Given the description of an element on the screen output the (x, y) to click on. 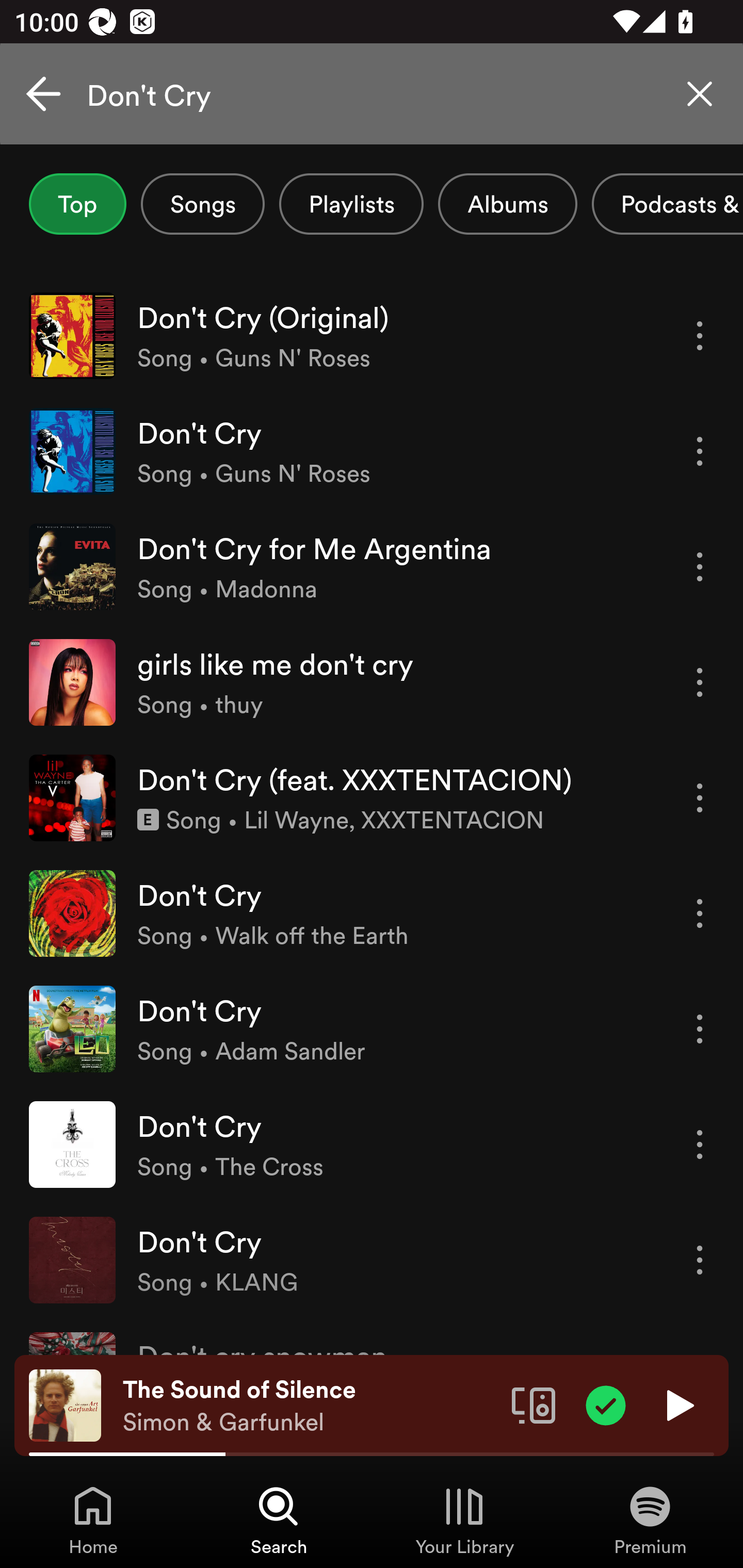
Don't Cry (371, 93)
Cancel (43, 93)
Clear search query (699, 93)
Top (77, 203)
Songs (202, 203)
Playlists (351, 203)
Albums (507, 203)
Podcasts & Shows (667, 203)
More options for song Don't Cry (Original) (699, 336)
More options for song Don't Cry (699, 450)
More options for song Don't Cry for Me Argentina (699, 566)
More options for song girls like me don't cry (699, 682)
More options for song Don't Cry (699, 913)
More options for song Don't Cry (699, 1029)
More options for song Don't Cry (699, 1144)
More options for song Don't Cry (699, 1259)
The Sound of Silence Simon & Garfunkel (309, 1405)
The cover art of the currently playing track (64, 1404)
Connect to a device. Opens the devices menu (533, 1404)
Item added (605, 1404)
Play (677, 1404)
Home, Tab 1 of 4 Home Home (92, 1519)
Search, Tab 2 of 4 Search Search (278, 1519)
Your Library, Tab 3 of 4 Your Library Your Library (464, 1519)
Premium, Tab 4 of 4 Premium Premium (650, 1519)
